Given the description of an element on the screen output the (x, y) to click on. 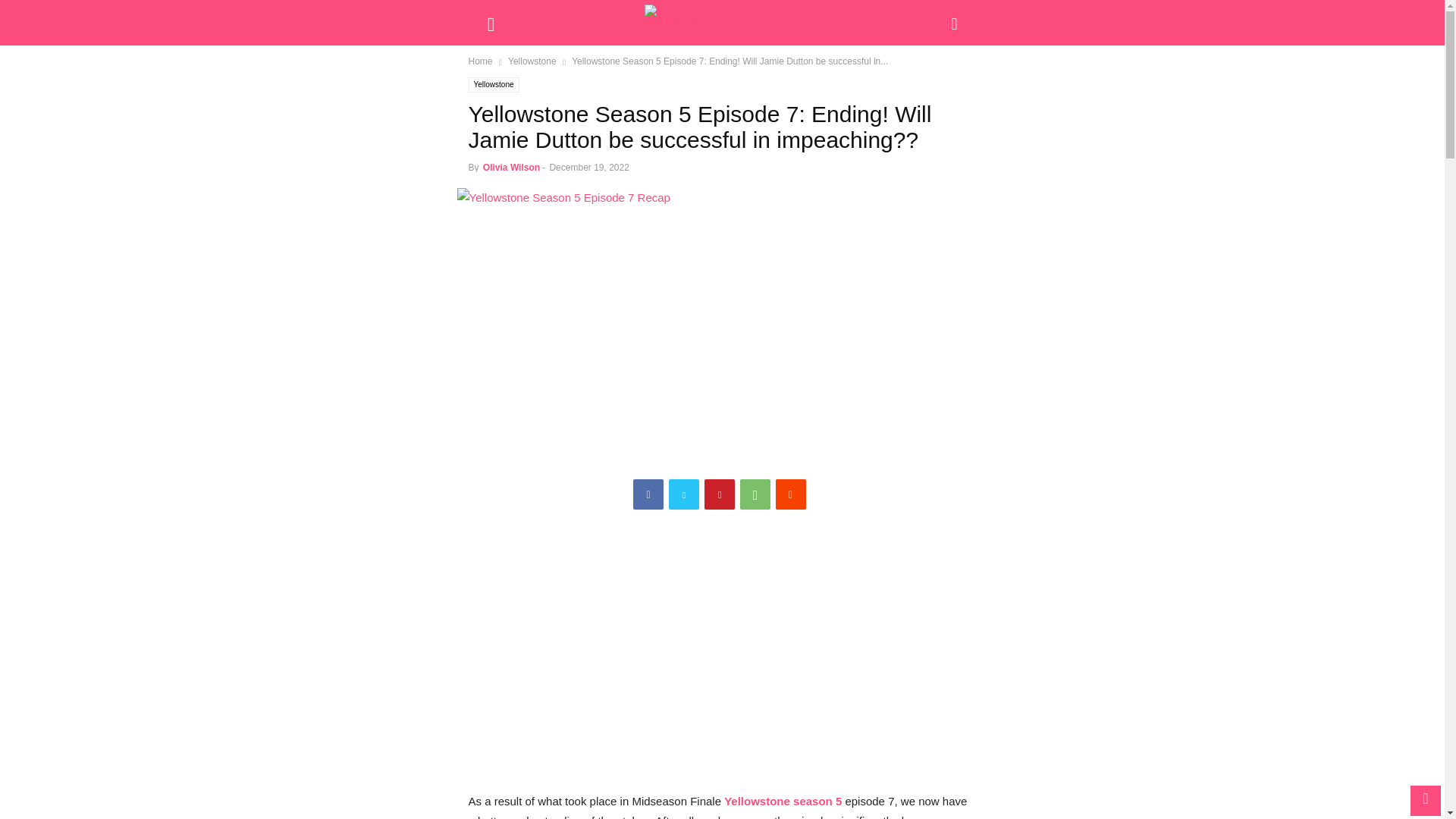
Yellowstone (532, 61)
Yellowstone (493, 84)
ReddIt (791, 494)
TV Acutte (722, 22)
View all posts in Yellowstone (532, 61)
Twitter (683, 494)
Home (480, 61)
WhatsApp (754, 494)
Pinterest (719, 494)
